Given the description of an element on the screen output the (x, y) to click on. 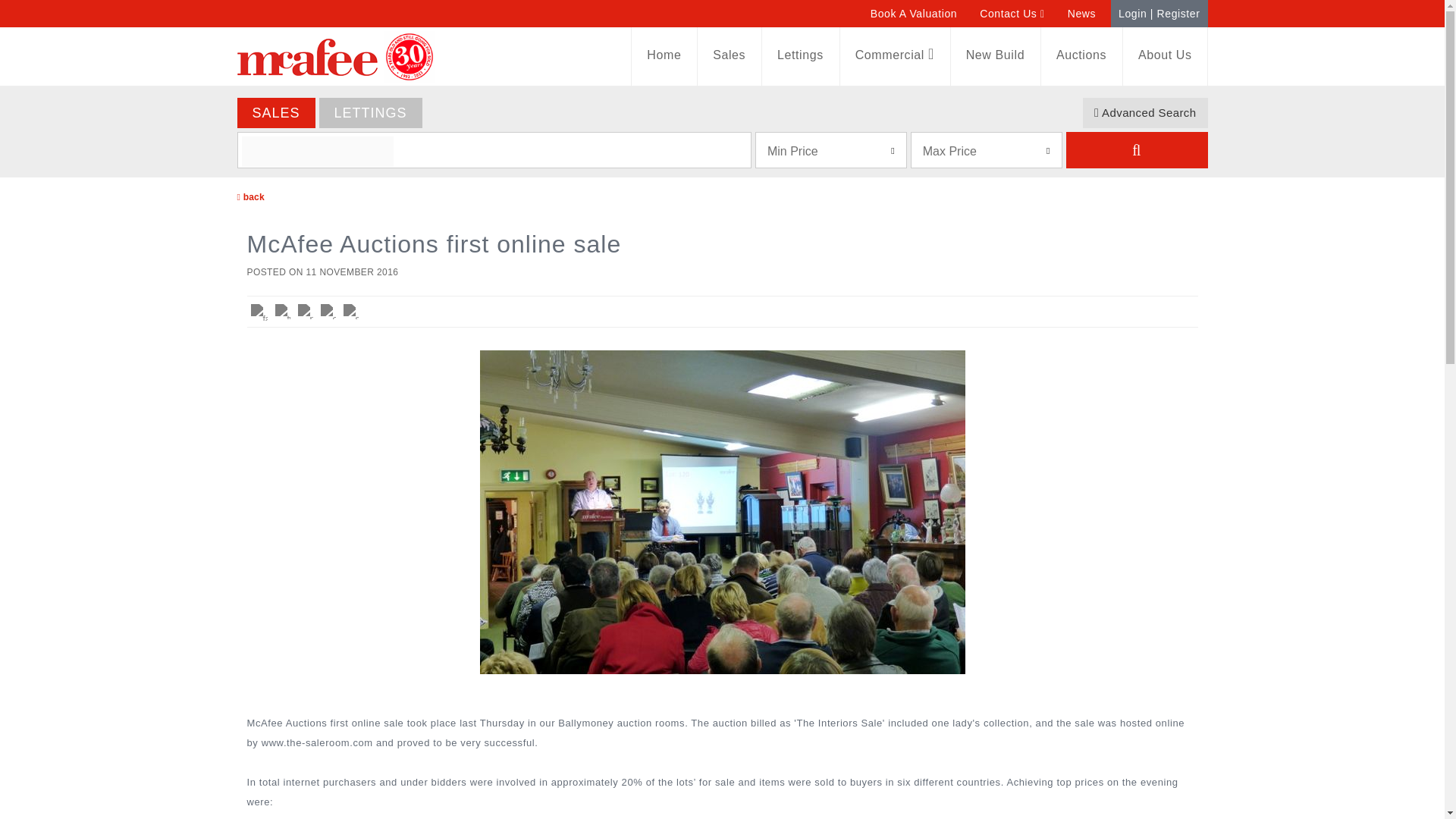
Contact Us (1011, 13)
Home (663, 55)
Book A Valuation (913, 13)
back (249, 196)
Auctions (1081, 55)
Lettings (799, 55)
Mcafee Properties and Mortgages (306, 56)
About Us (1164, 55)
LETTINGS (370, 112)
New Build (994, 55)
